Given the description of an element on the screen output the (x, y) to click on. 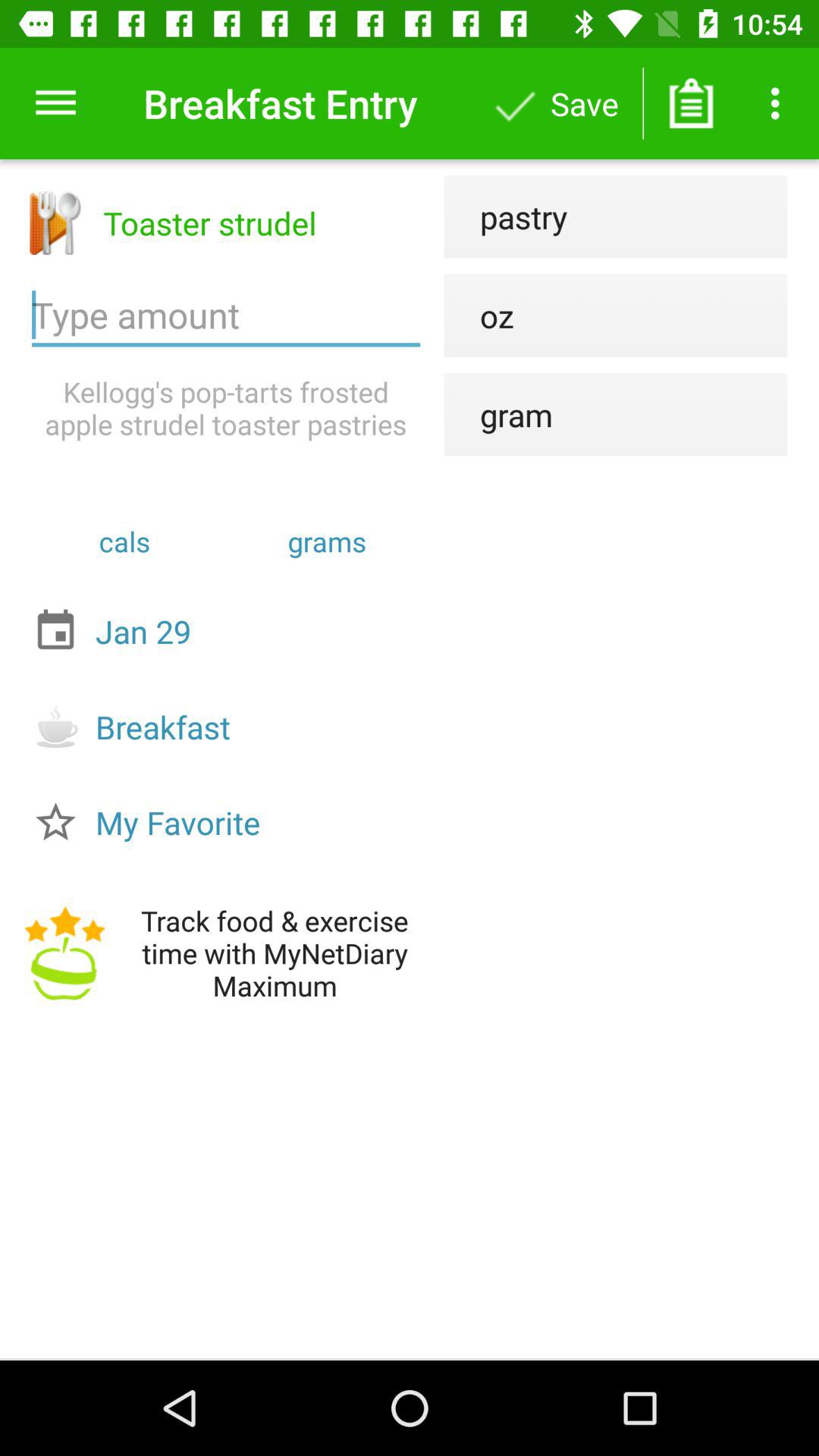
turn off jan 29 (229, 631)
